Given the description of an element on the screen output the (x, y) to click on. 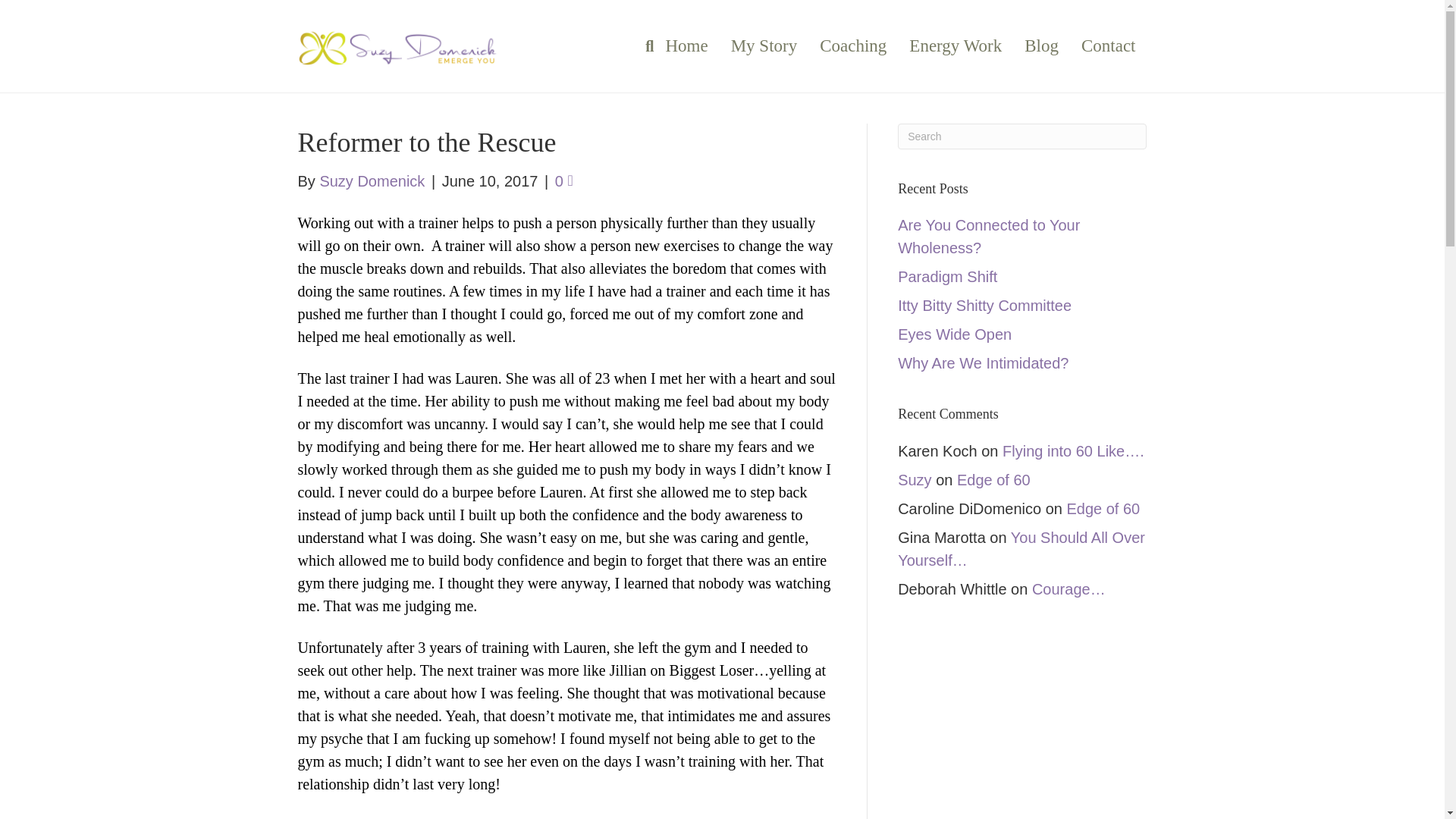
Edge of 60 (1102, 508)
Energy Work (955, 45)
Contact (1108, 45)
Why Are We Intimidated? (983, 362)
Suzy (914, 479)
Paradigm Shift (947, 276)
Edge of 60 (993, 479)
Type and press Enter to search. (1022, 136)
Are You Connected to Your Wholeness? (989, 236)
Coaching (853, 45)
Blog (1041, 45)
Suzy Domenick (371, 180)
Itty Bitty Shitty Committee (984, 305)
My Story (764, 45)
Home (686, 45)
